Given the description of an element on the screen output the (x, y) to click on. 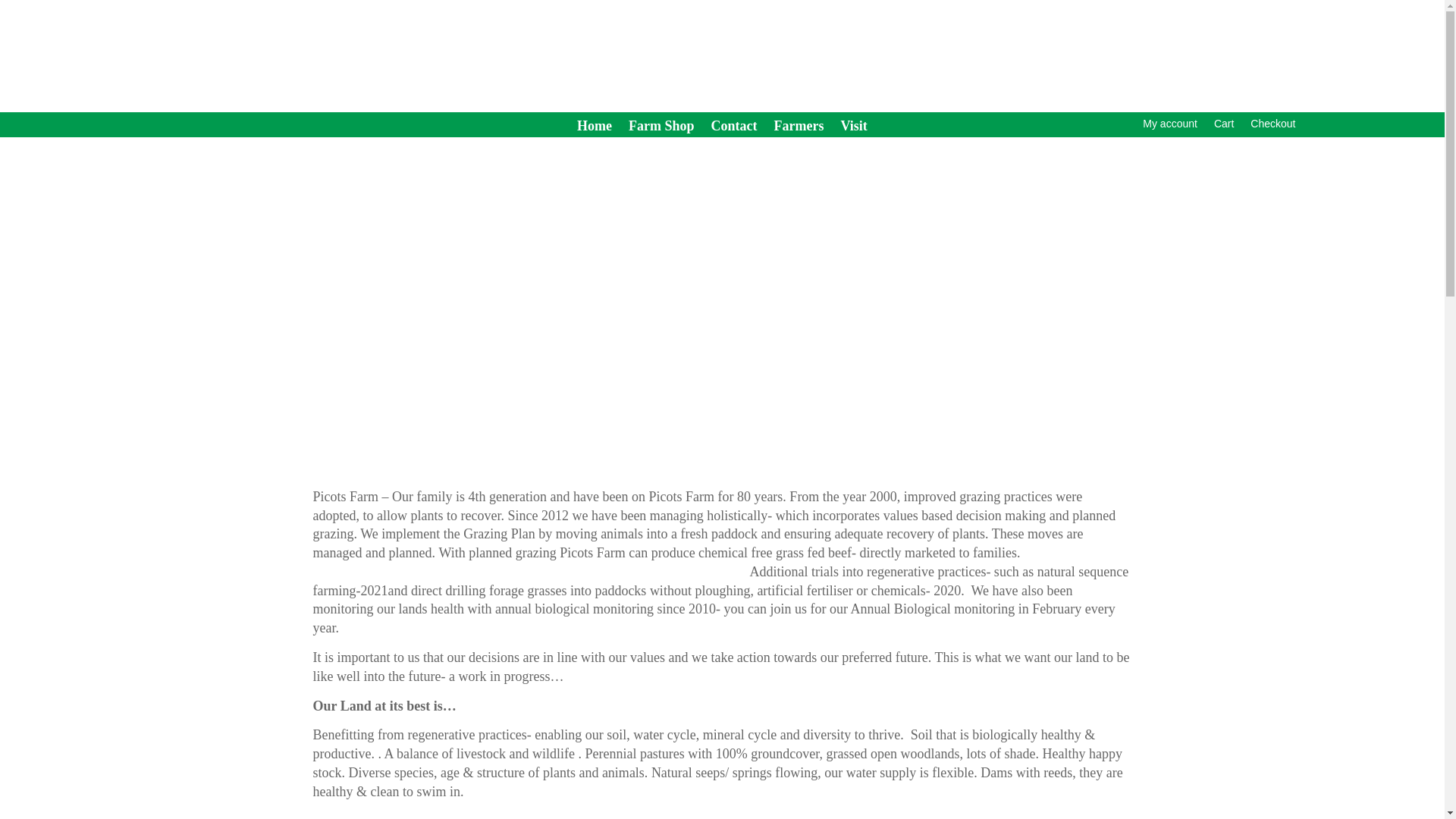
Farmers (799, 128)
Cart (1223, 126)
My account (1169, 126)
Checkout (1272, 126)
Farm Shop (661, 128)
Visit (854, 128)
Home (593, 128)
Contact (734, 128)
